Given the description of an element on the screen output the (x, y) to click on. 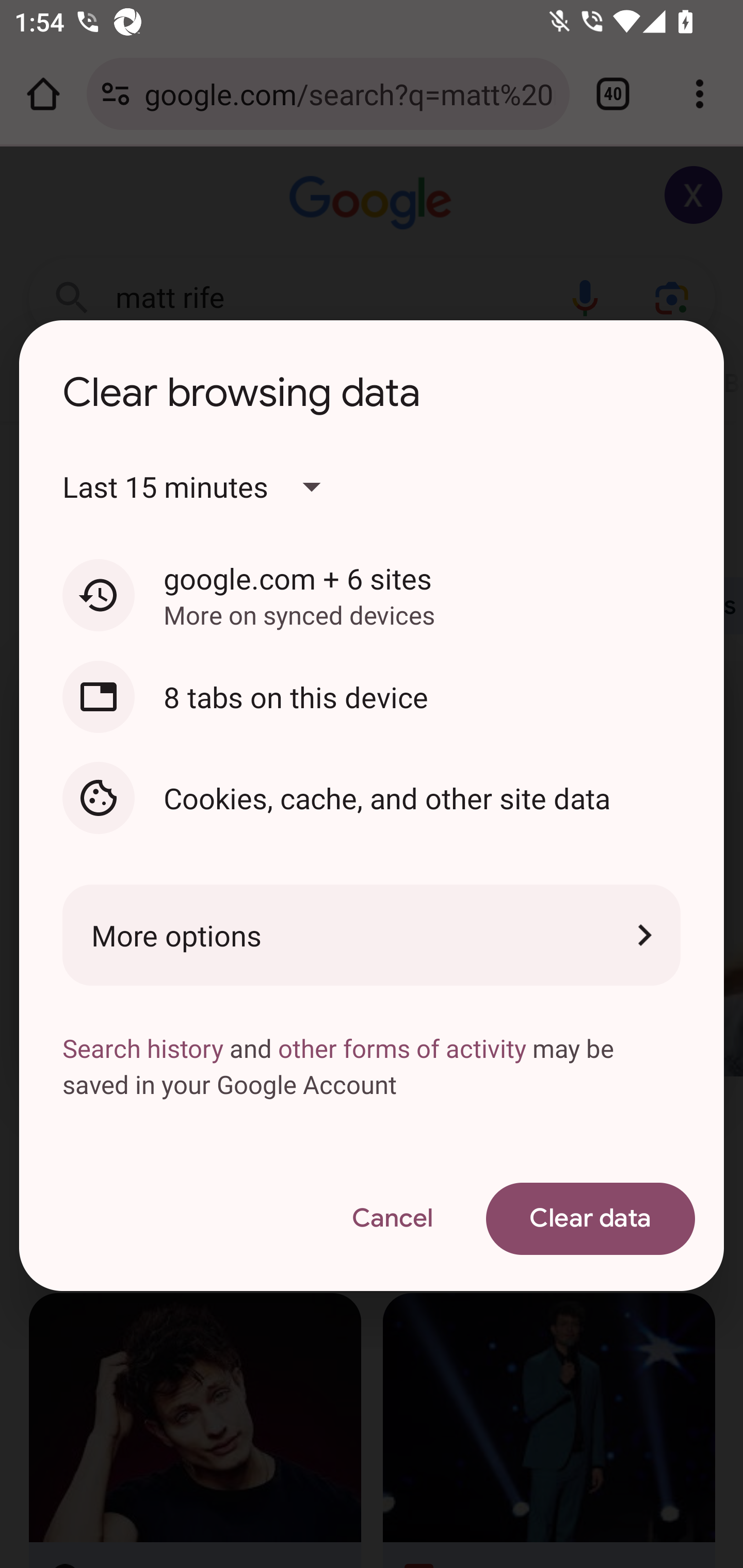
Last 15 minutes (208, 486)
More options More options to clear browsing data (371, 935)
Cancel (391, 1219)
Clear data (589, 1219)
